Given the description of an element on the screen output the (x, y) to click on. 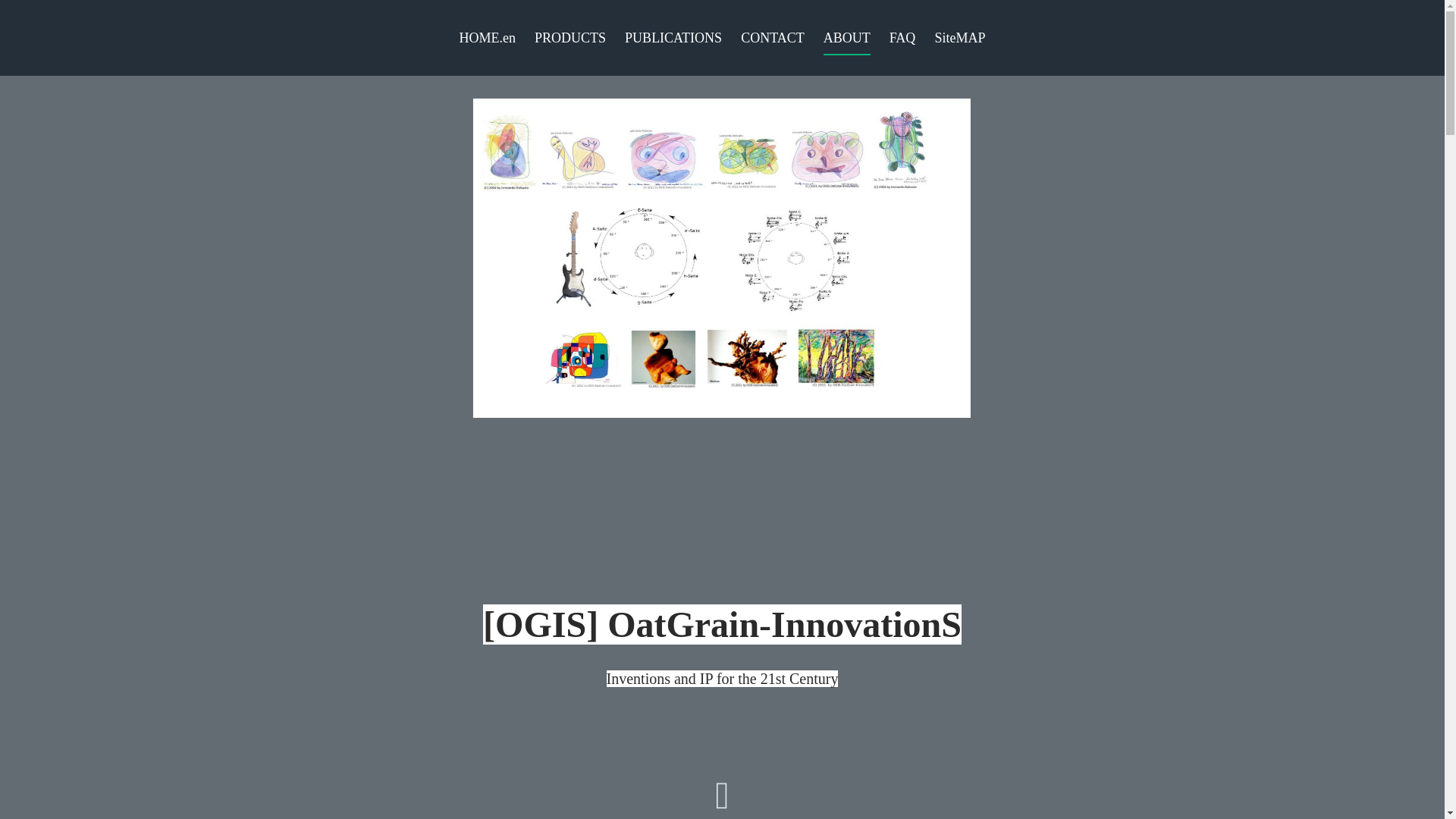
PUBLICATIONS (673, 42)
ABOUT (847, 42)
HOME.en (488, 42)
PUBLICATIONS (673, 42)
HOME.en (488, 42)
CONTACT (773, 42)
SiteMAP (959, 42)
PRODUCTS (569, 42)
FAQ (902, 42)
CONTACT (773, 42)
